Given the description of an element on the screen output the (x, y) to click on. 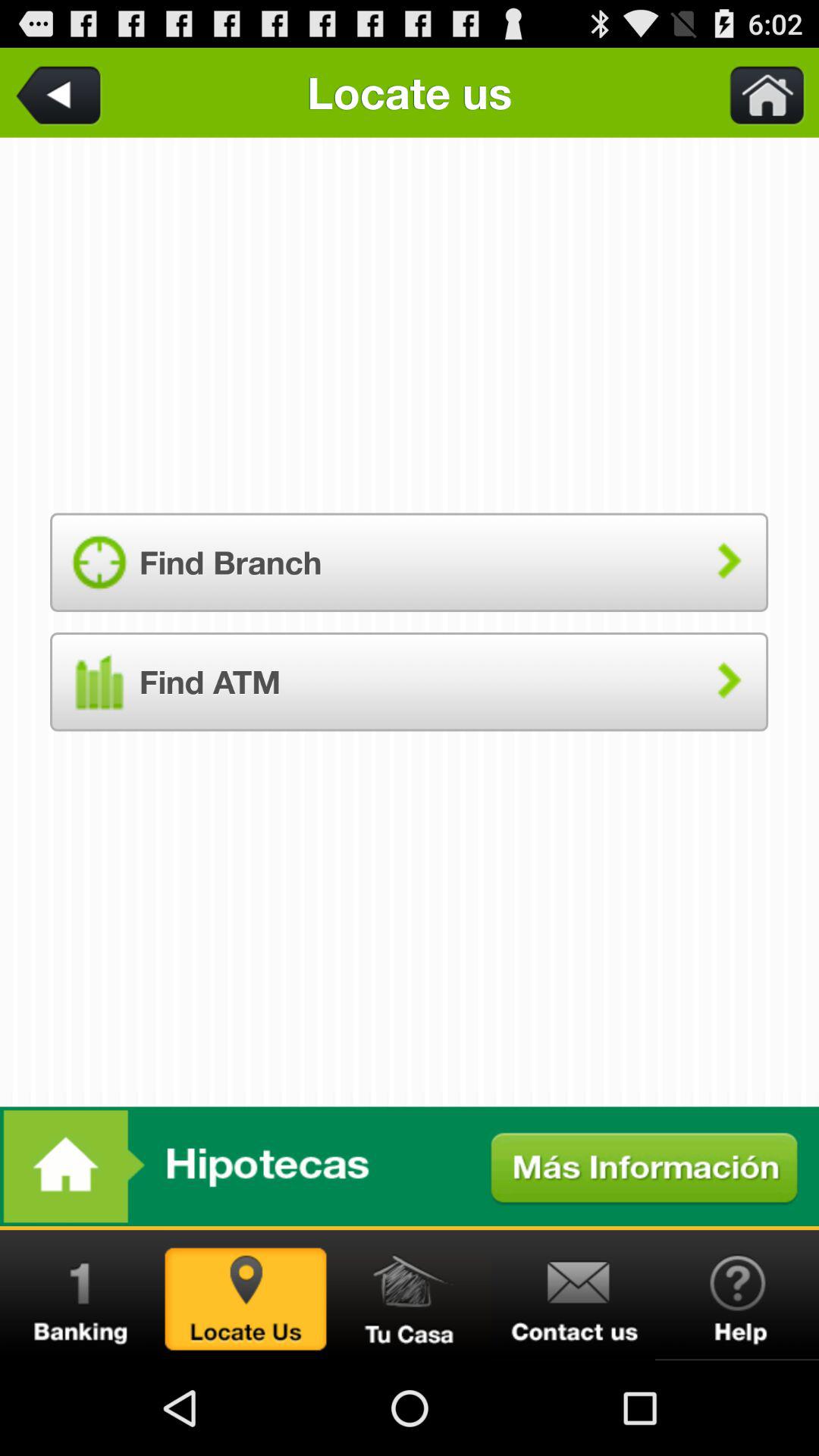
see help information (737, 1295)
